Given the description of an element on the screen output the (x, y) to click on. 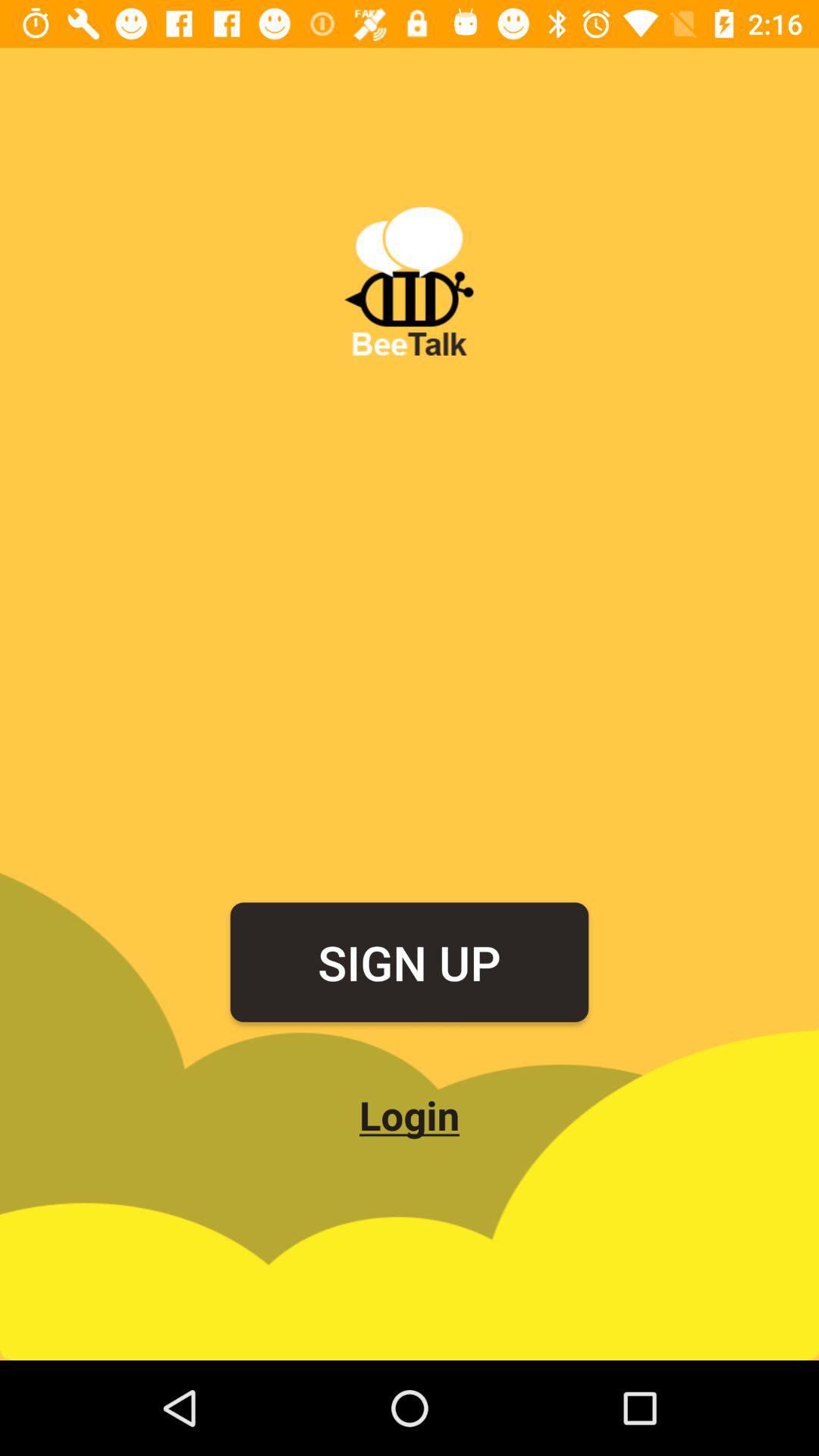
press the item above the login icon (409, 962)
